Given the description of an element on the screen output the (x, y) to click on. 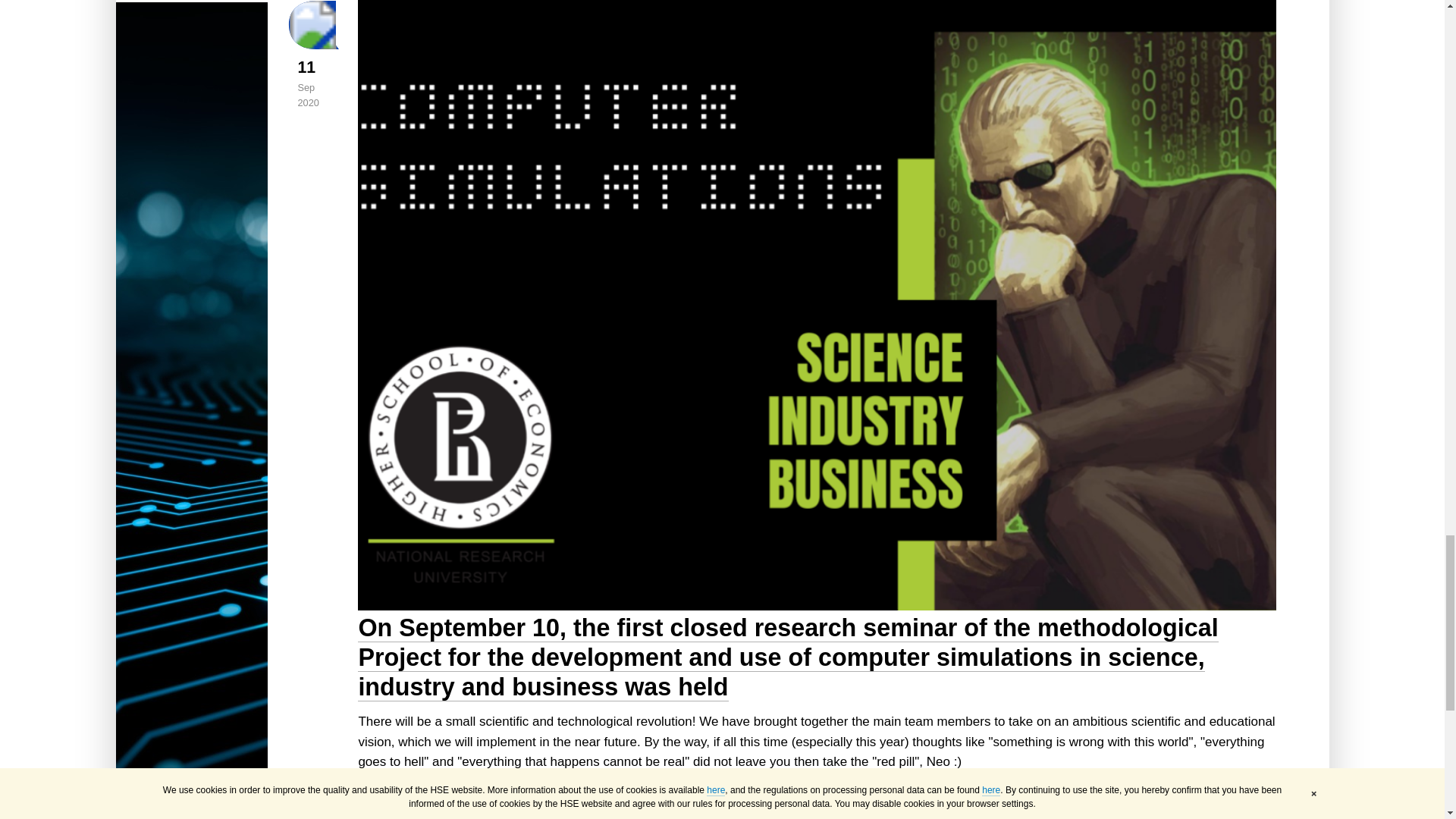
innovations  (389, 798)
